Given the description of an element on the screen output the (x, y) to click on. 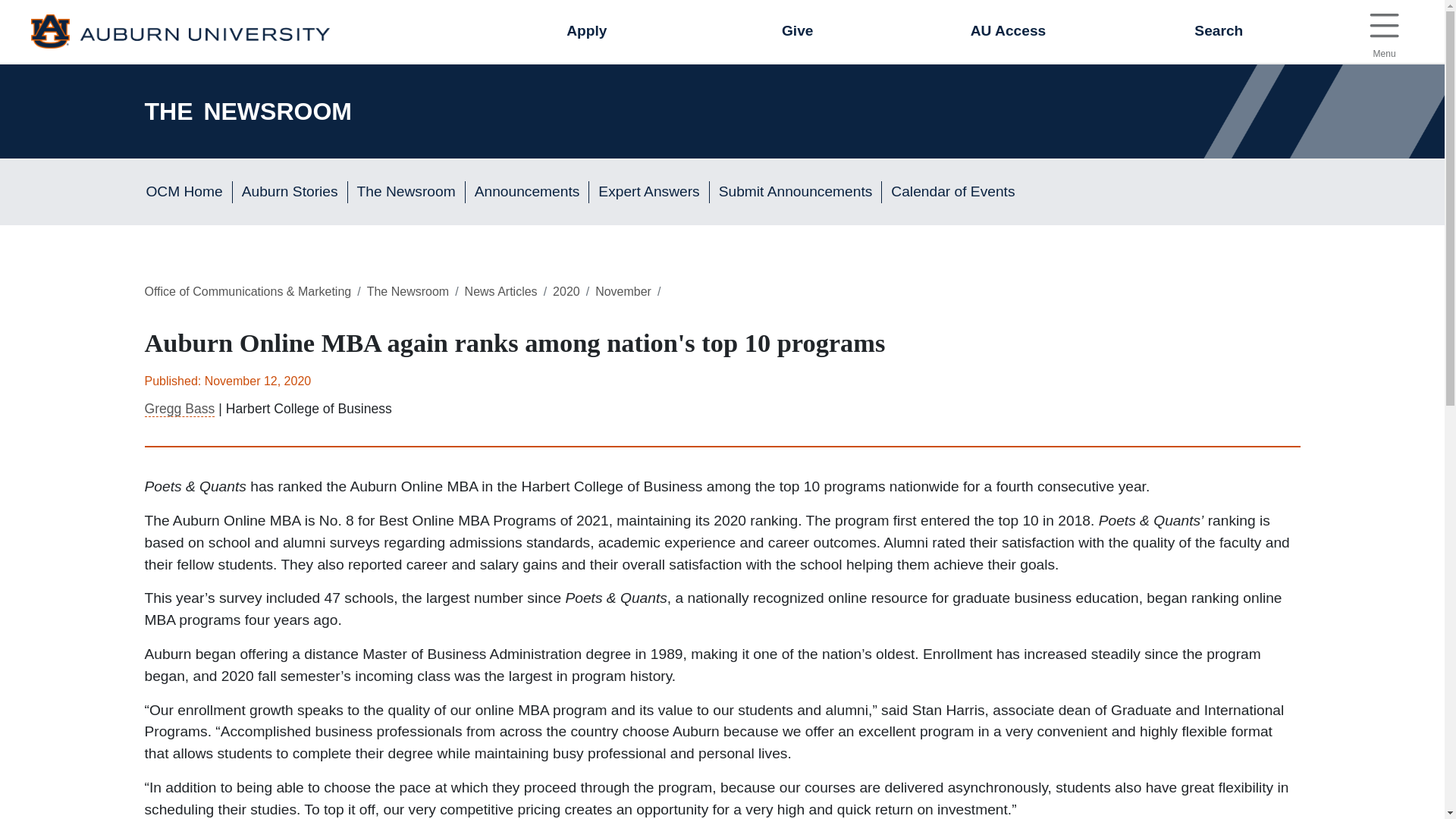
Give (797, 31)
Search (1218, 31)
AU Access (1007, 31)
Apply (1383, 32)
Menu button (587, 31)
